Given the description of an element on the screen output the (x, y) to click on. 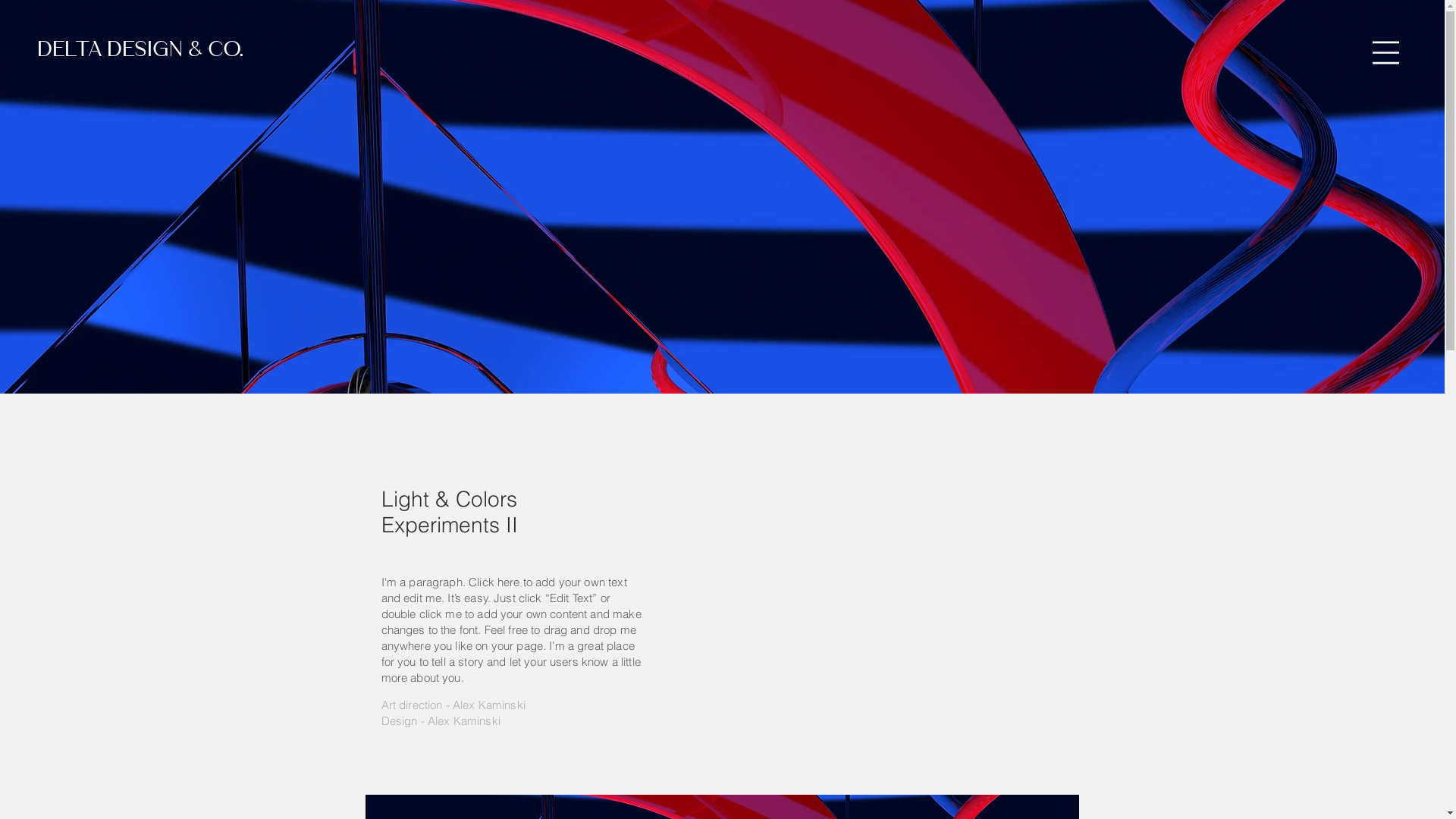
DELTA DESIGN & CO. Element type: text (140, 51)
